Given the description of an element on the screen output the (x, y) to click on. 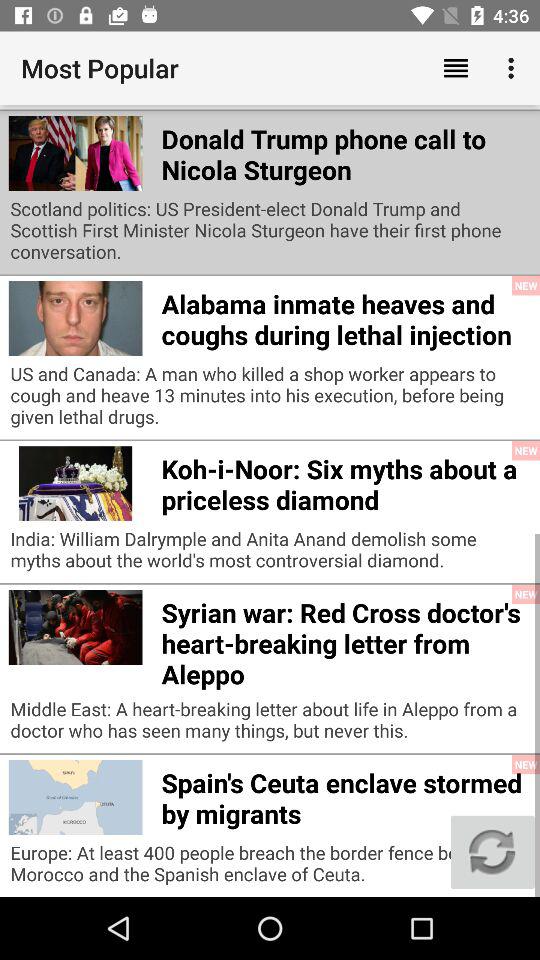
choose the icon below the syrian war red item (270, 724)
